Given the description of an element on the screen output the (x, y) to click on. 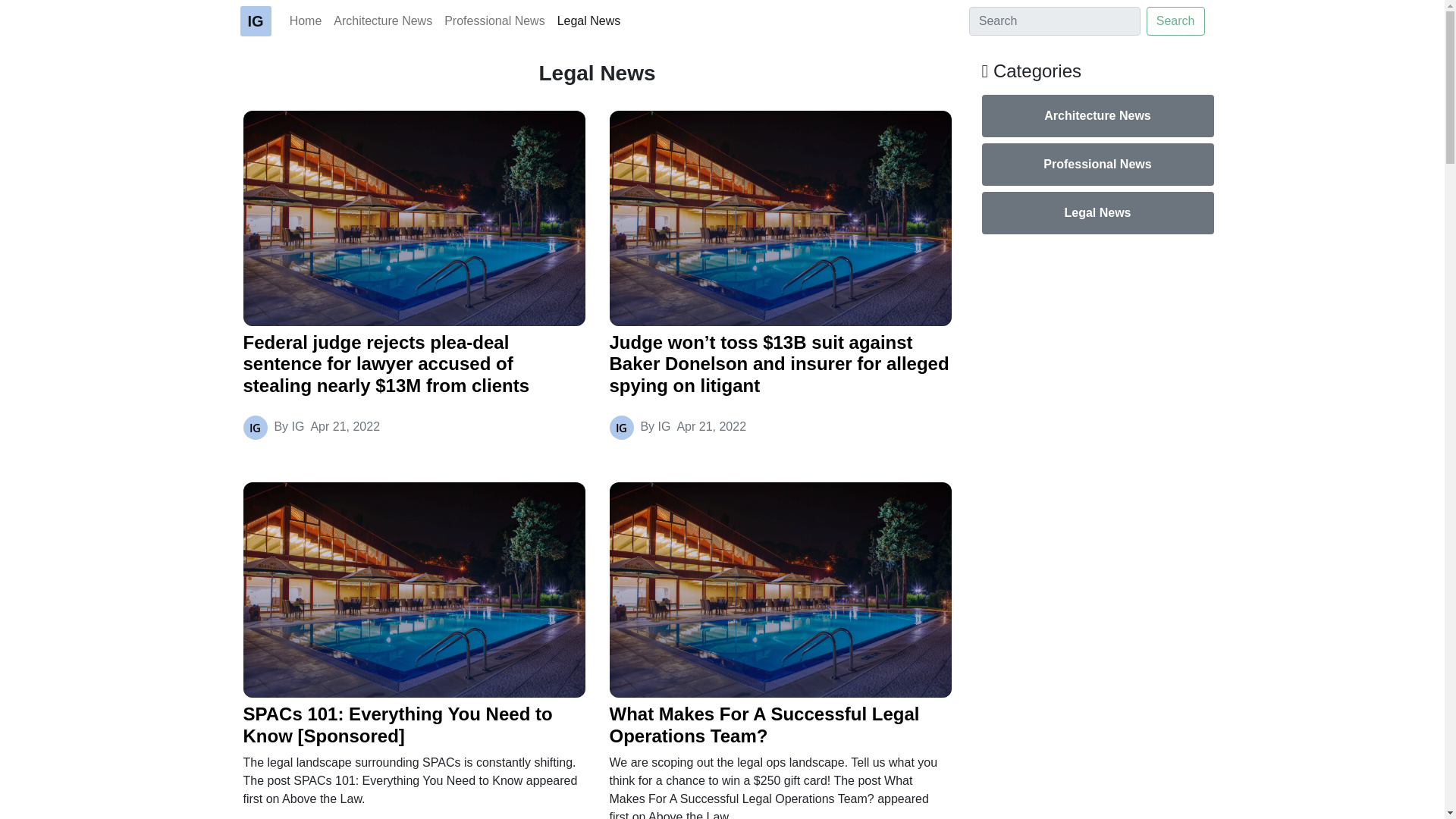
Professional News (1096, 164)
Architecture News (382, 20)
What Makes For A Successful Legal Operations Team? (781, 725)
Search (1176, 21)
Legal News (1096, 212)
Professional News (494, 20)
Legal News (589, 20)
Architecture News (1096, 116)
Home (306, 20)
IG (255, 20)
